Given the description of an element on the screen output the (x, y) to click on. 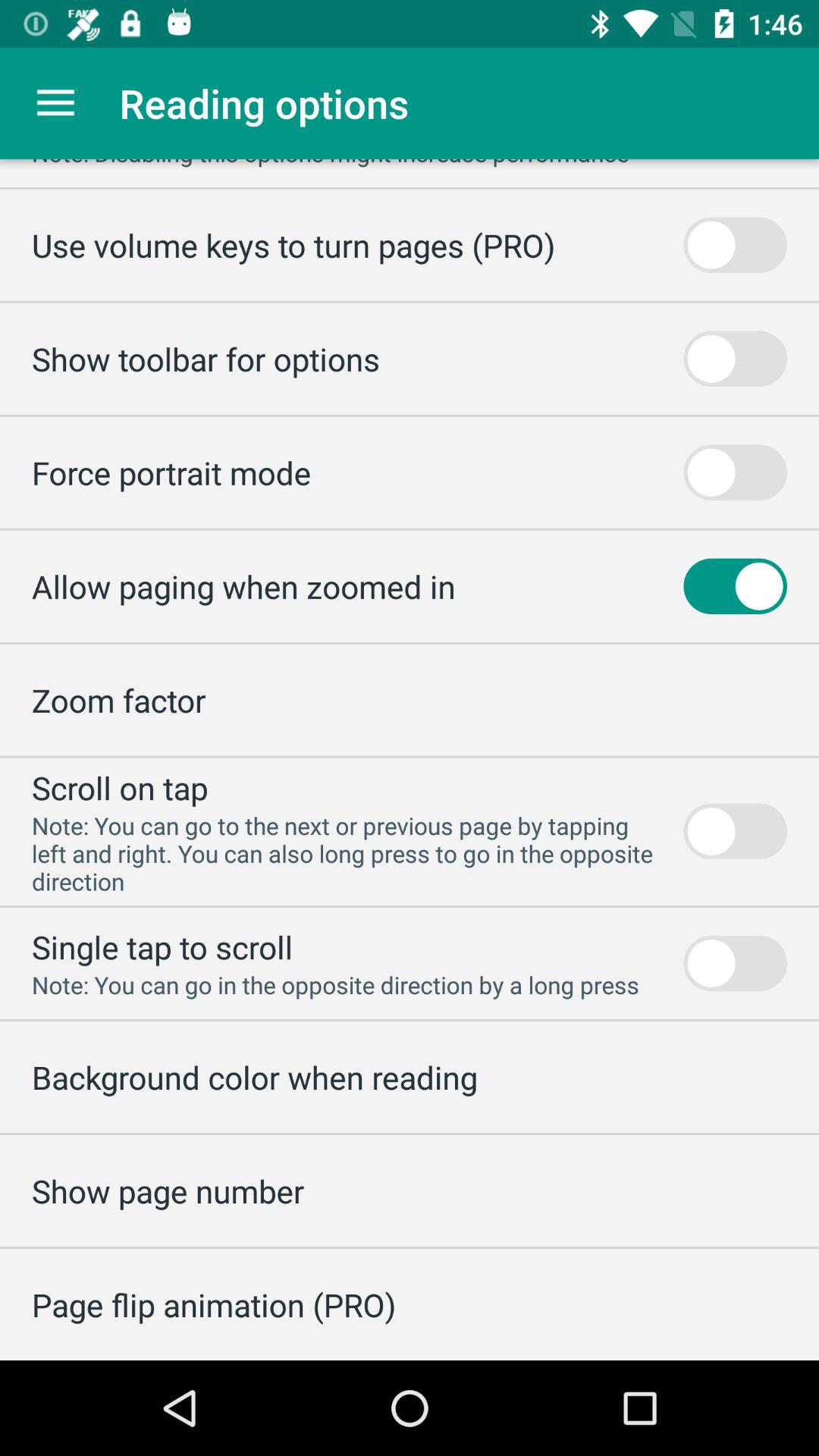
flip until the show toolbar for item (205, 358)
